Given the description of an element on the screen output the (x, y) to click on. 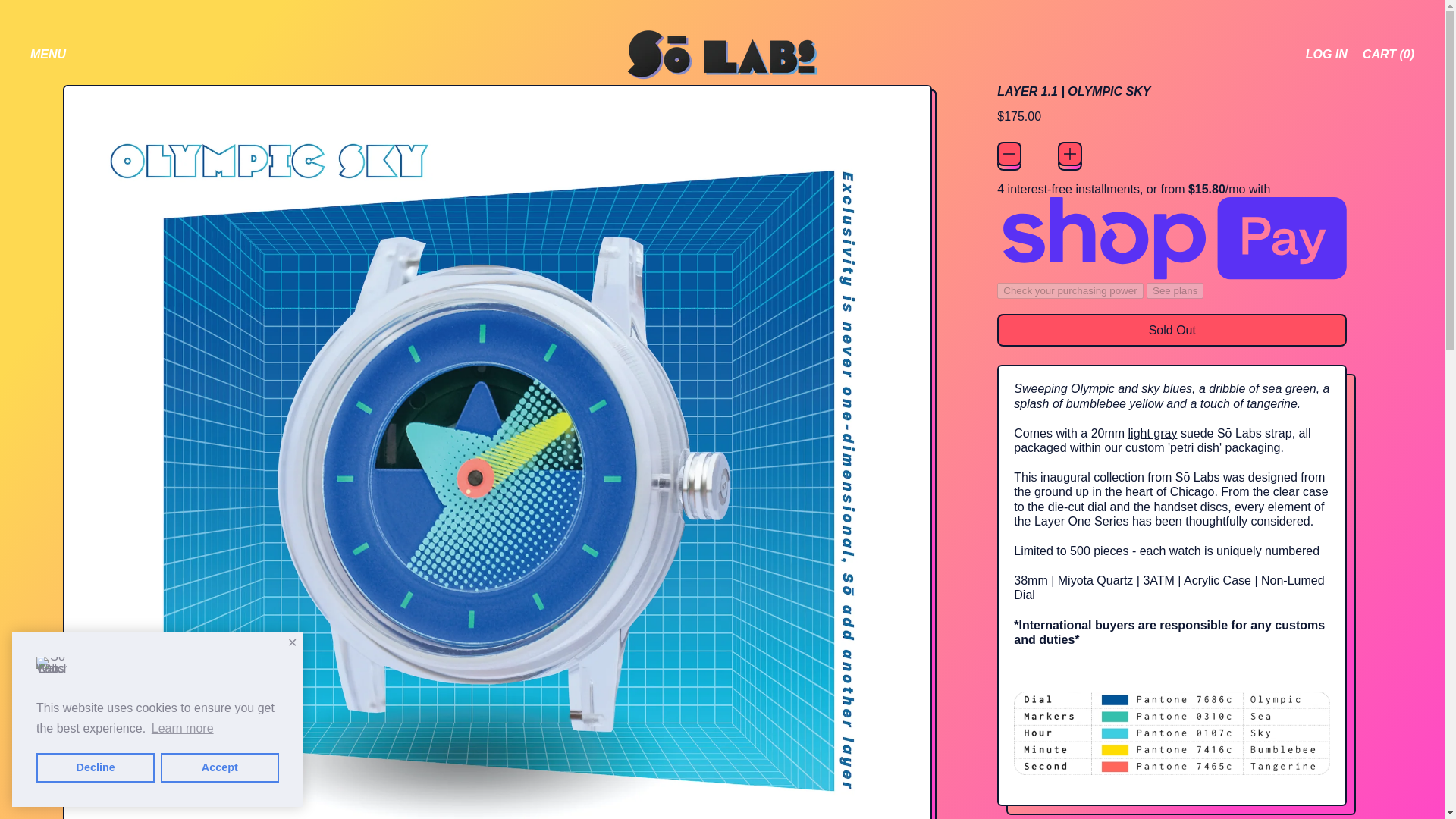
Decline (95, 767)
Learn more (182, 728)
Sold Out (1171, 329)
MENU (47, 54)
Accept (219, 767)
LOG IN (1326, 54)
